Given the description of an element on the screen output the (x, y) to click on. 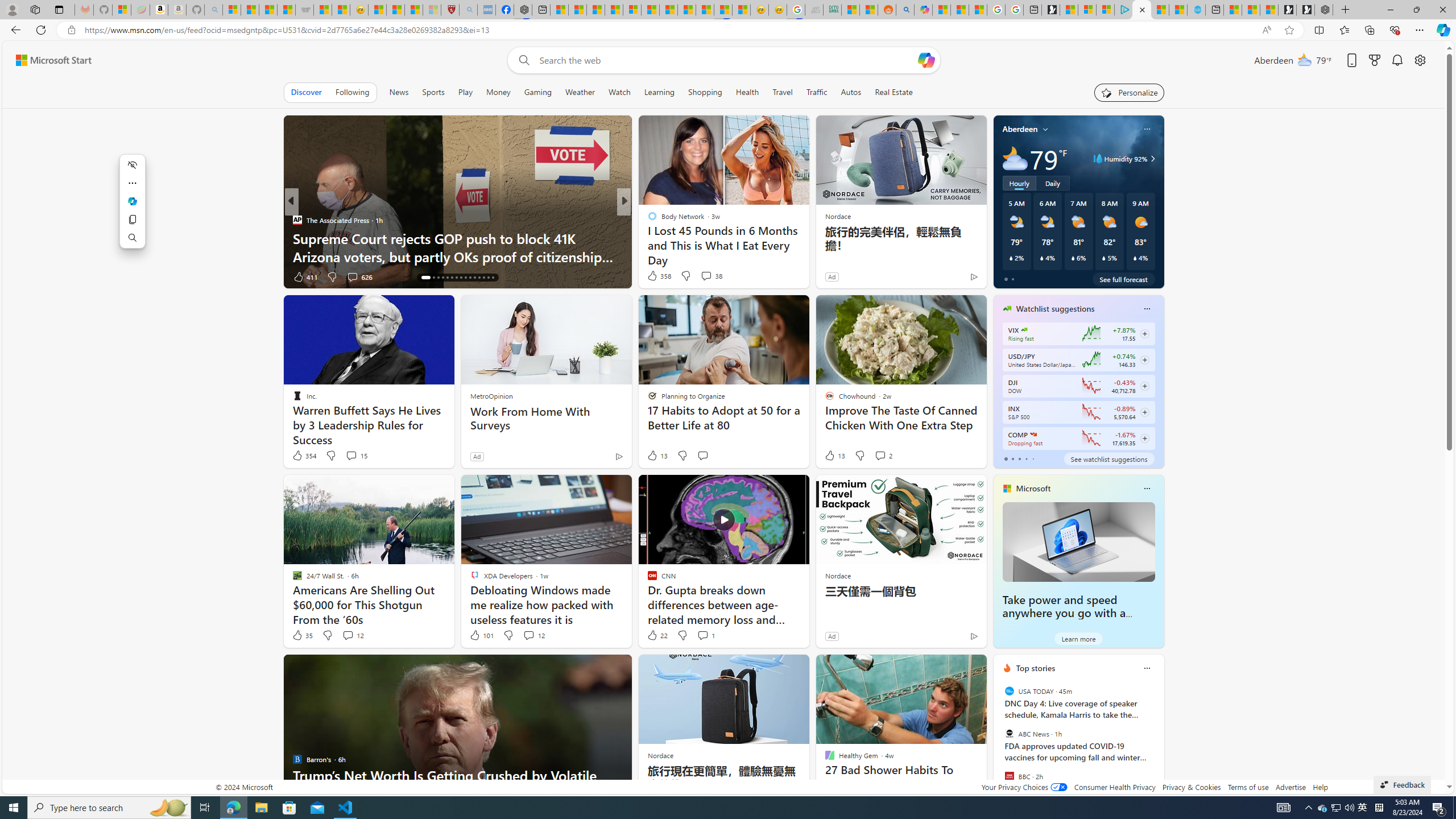
Moneywise (647, 219)
AutomationID: tab-18 (438, 277)
previous (998, 741)
358 Like (658, 275)
Take power and speed anywhere you go with a Windows laptop. (1077, 541)
HowToGeek (647, 238)
411 Like (304, 276)
MarketBeat (647, 238)
